Given the description of an element on the screen output the (x, y) to click on. 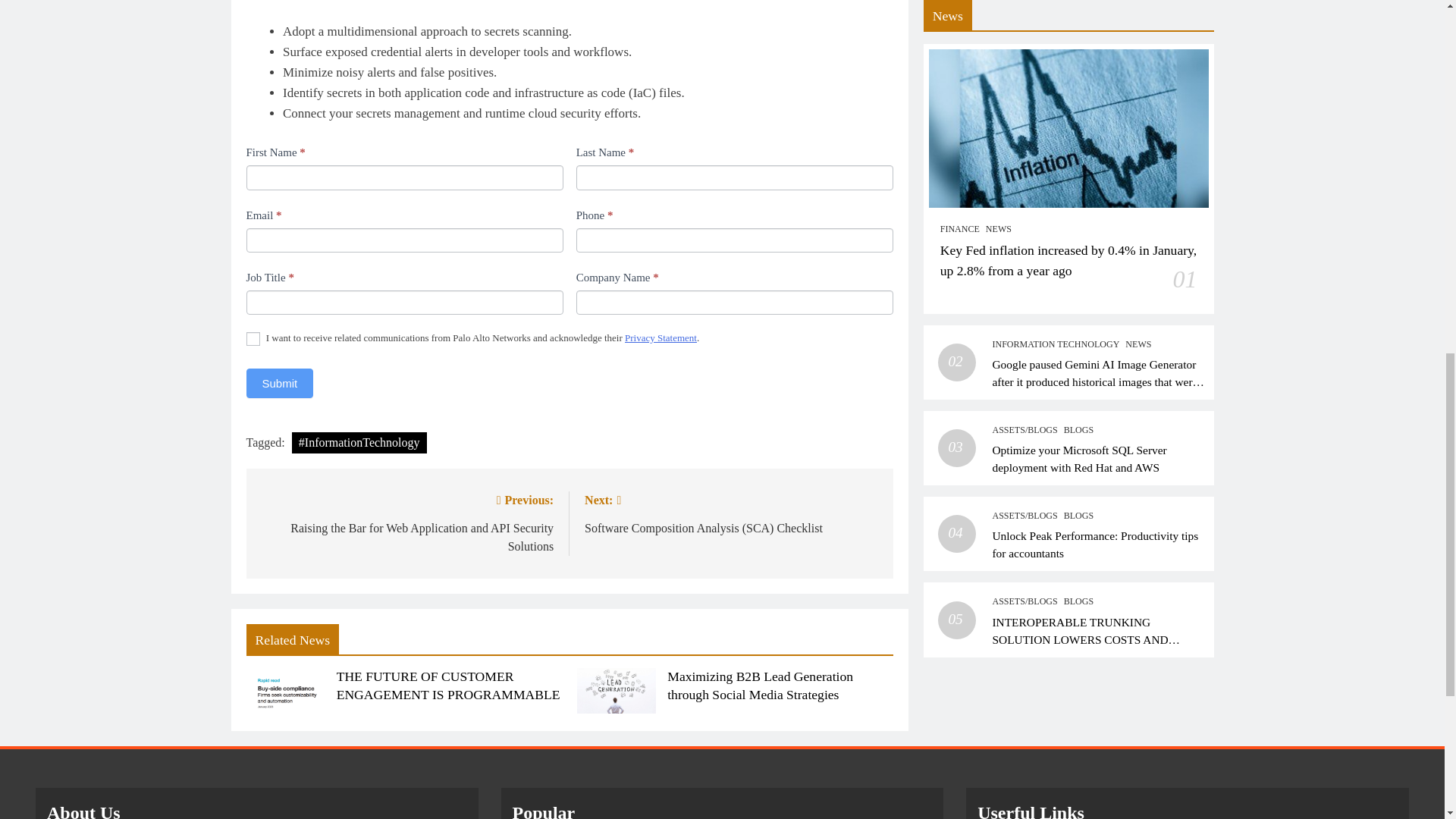
THE FUTURE OF CUSTOMER ENGAGEMENT IS PROGRAMMABLE (448, 685)
Submit (279, 383)
Privacy Statement (660, 337)
